Given the description of an element on the screen output the (x, y) to click on. 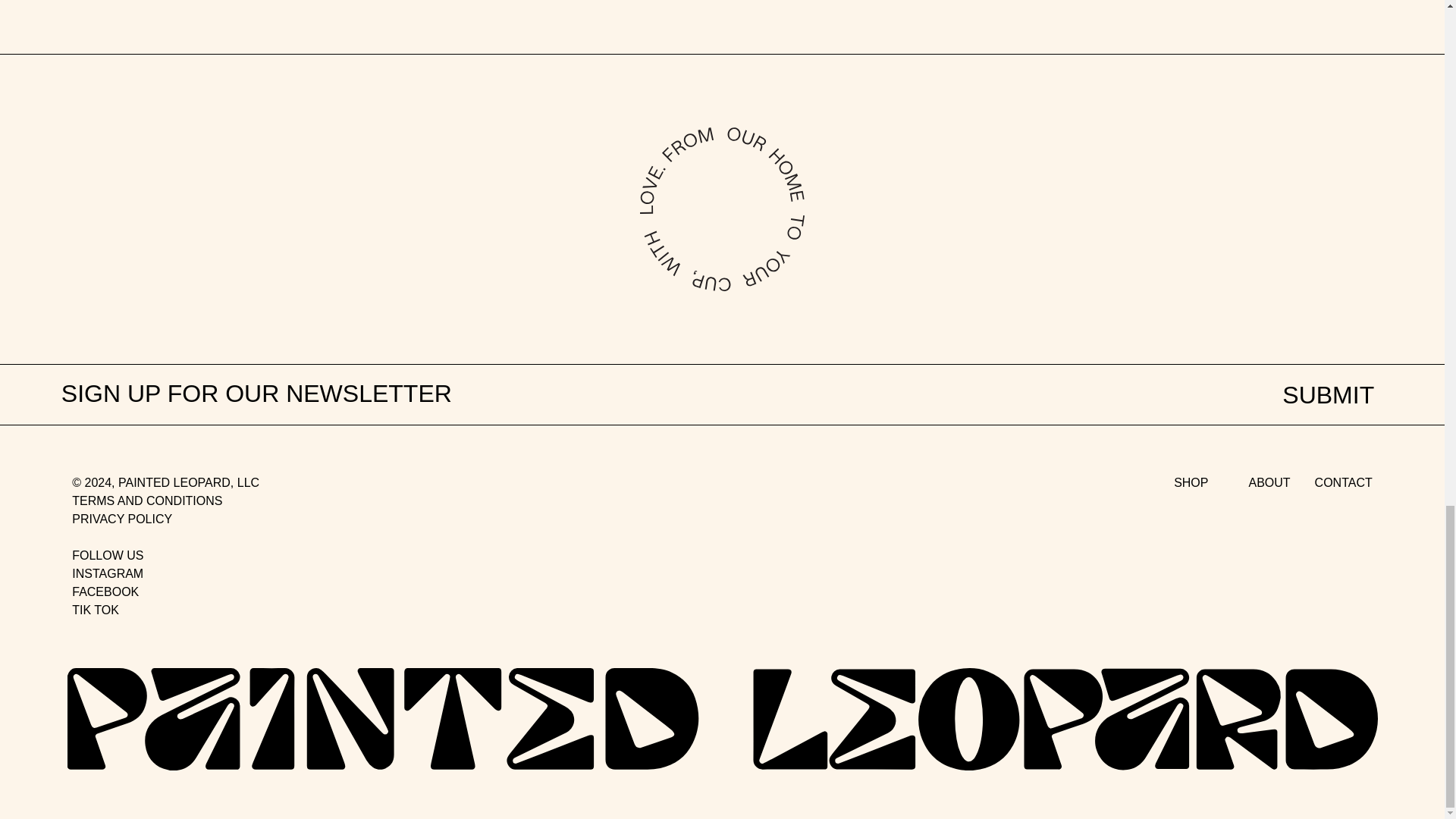
ABOUT (1268, 483)
SHOP (1190, 483)
TERMS AND CONDITIONS (146, 500)
PRIVACY POLICY (121, 518)
FACEBOOK (104, 591)
SUBMIT (1327, 394)
SUBMIT (1327, 394)
TIK TOK (95, 609)
INSTAGRAM (106, 573)
CONTACT (1343, 483)
